Given the description of an element on the screen output the (x, y) to click on. 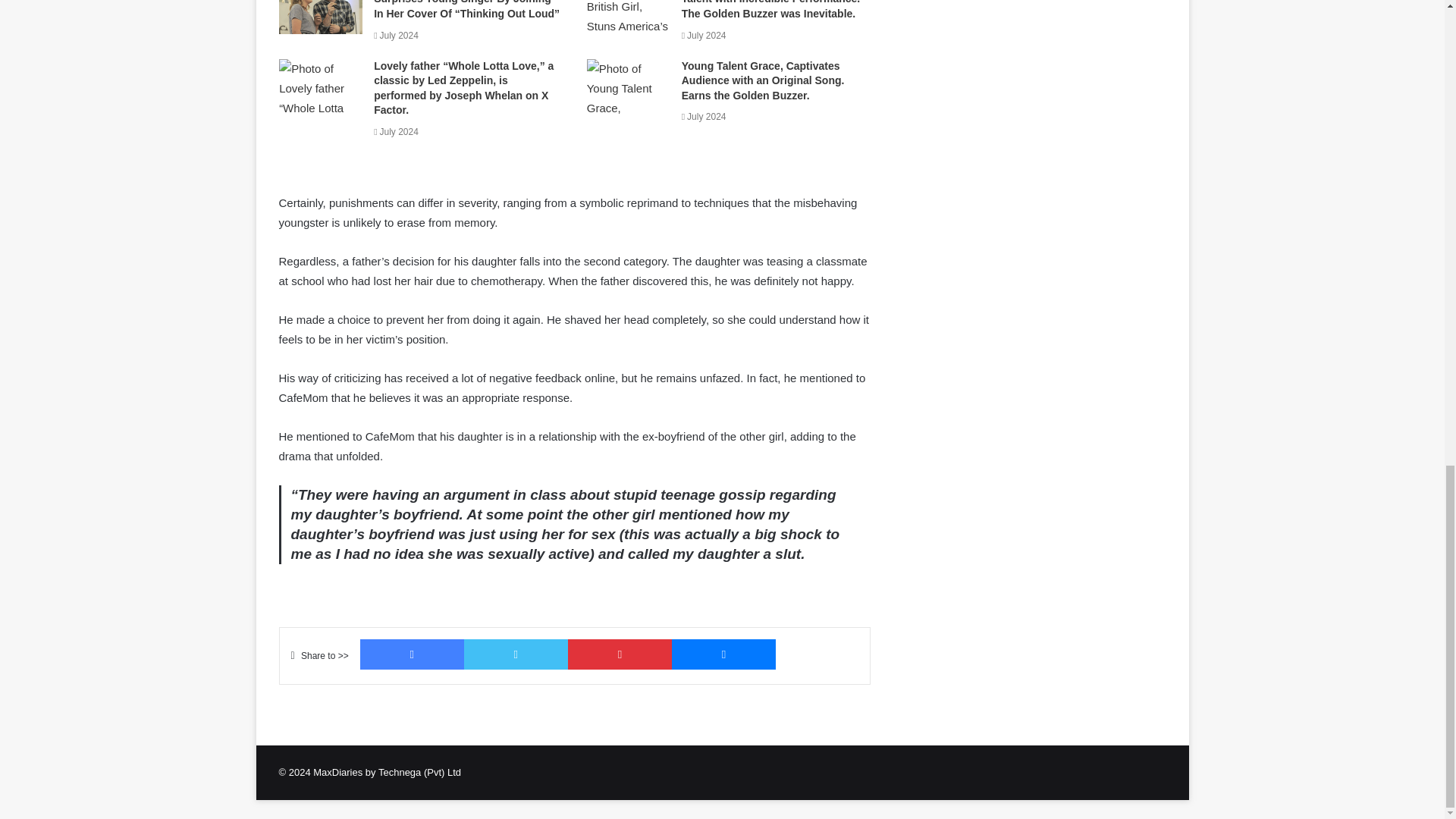
Twitter (515, 654)
Messenger (723, 654)
Facebook (411, 654)
Pinterest (619, 654)
